Given the description of an element on the screen output the (x, y) to click on. 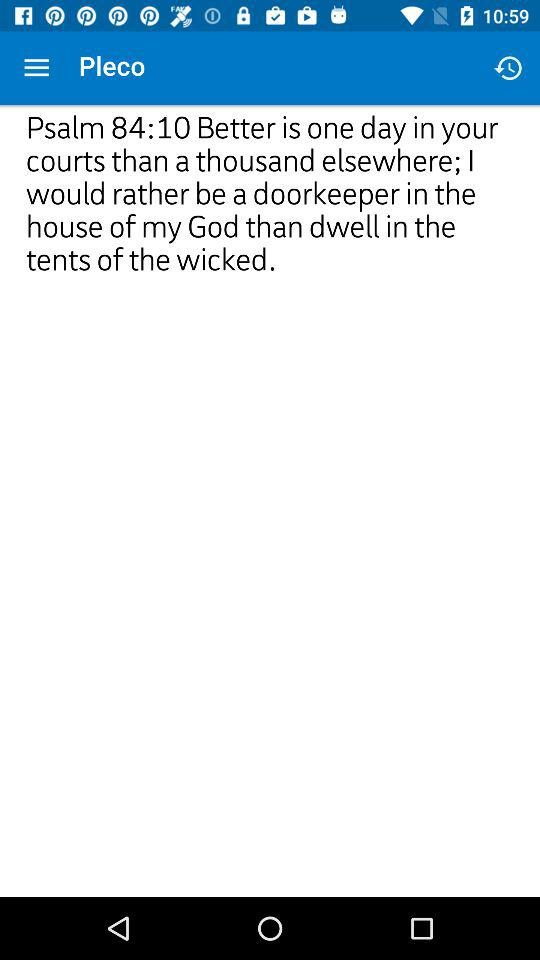
scroll until the psalm 84 10 (270, 320)
